Given the description of an element on the screen output the (x, y) to click on. 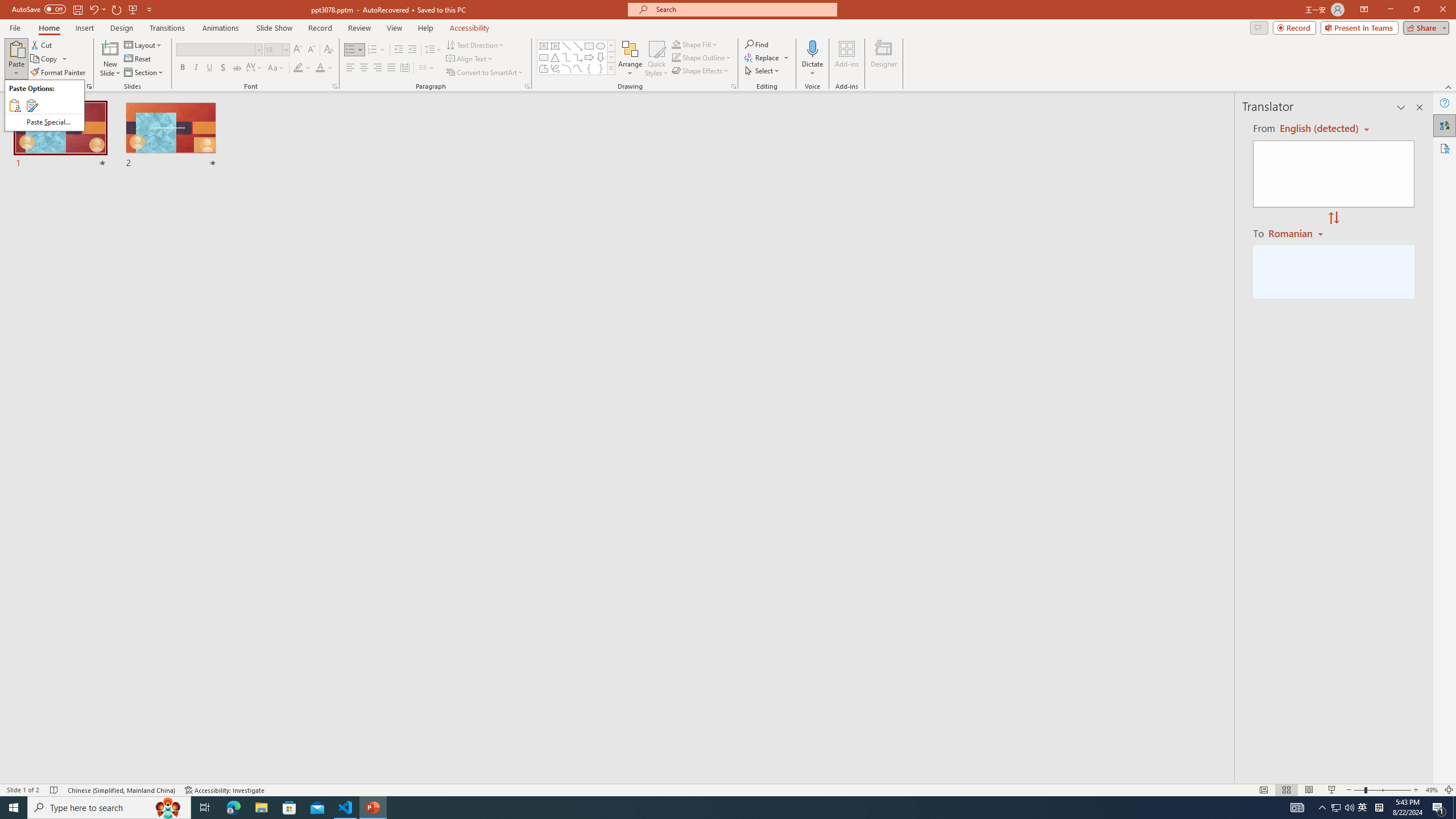
Distributed (404, 67)
Copy (45, 58)
Row up (611, 45)
Accessibility Checker Accessibility: Investigate (224, 790)
Dictate (812, 48)
Line Arrow (577, 45)
Align Right (377, 67)
Align Left (349, 67)
Paste (44, 105)
Notification Chevron (1322, 807)
